Given the description of an element on the screen output the (x, y) to click on. 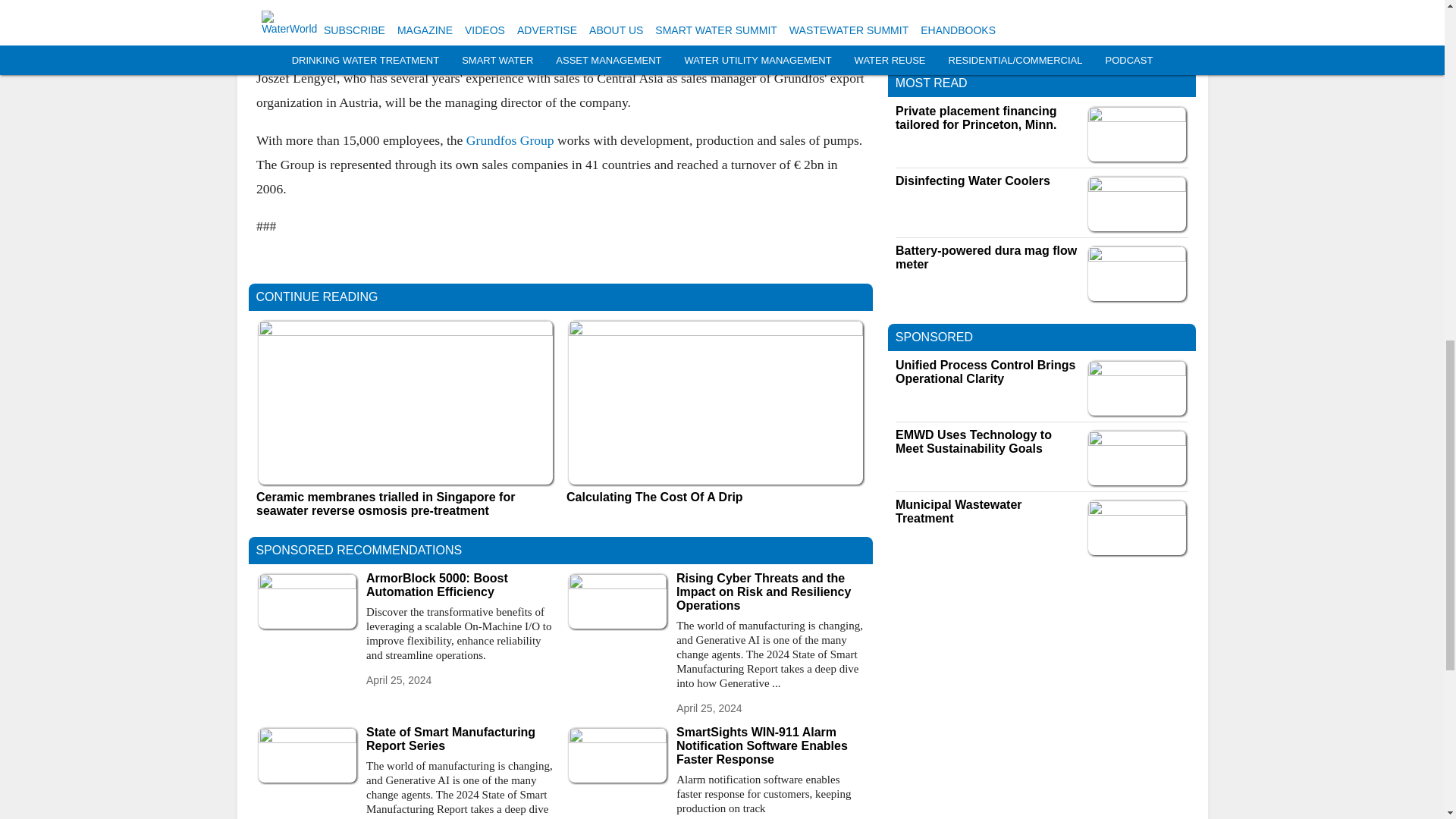
State of Smart Manufacturing Report Series (459, 738)
ArmorBlock 5000: Boost Automation Efficiency (459, 584)
Grundfos Group (509, 140)
Calculating The Cost Of A Drip (715, 497)
